Given the description of an element on the screen output the (x, y) to click on. 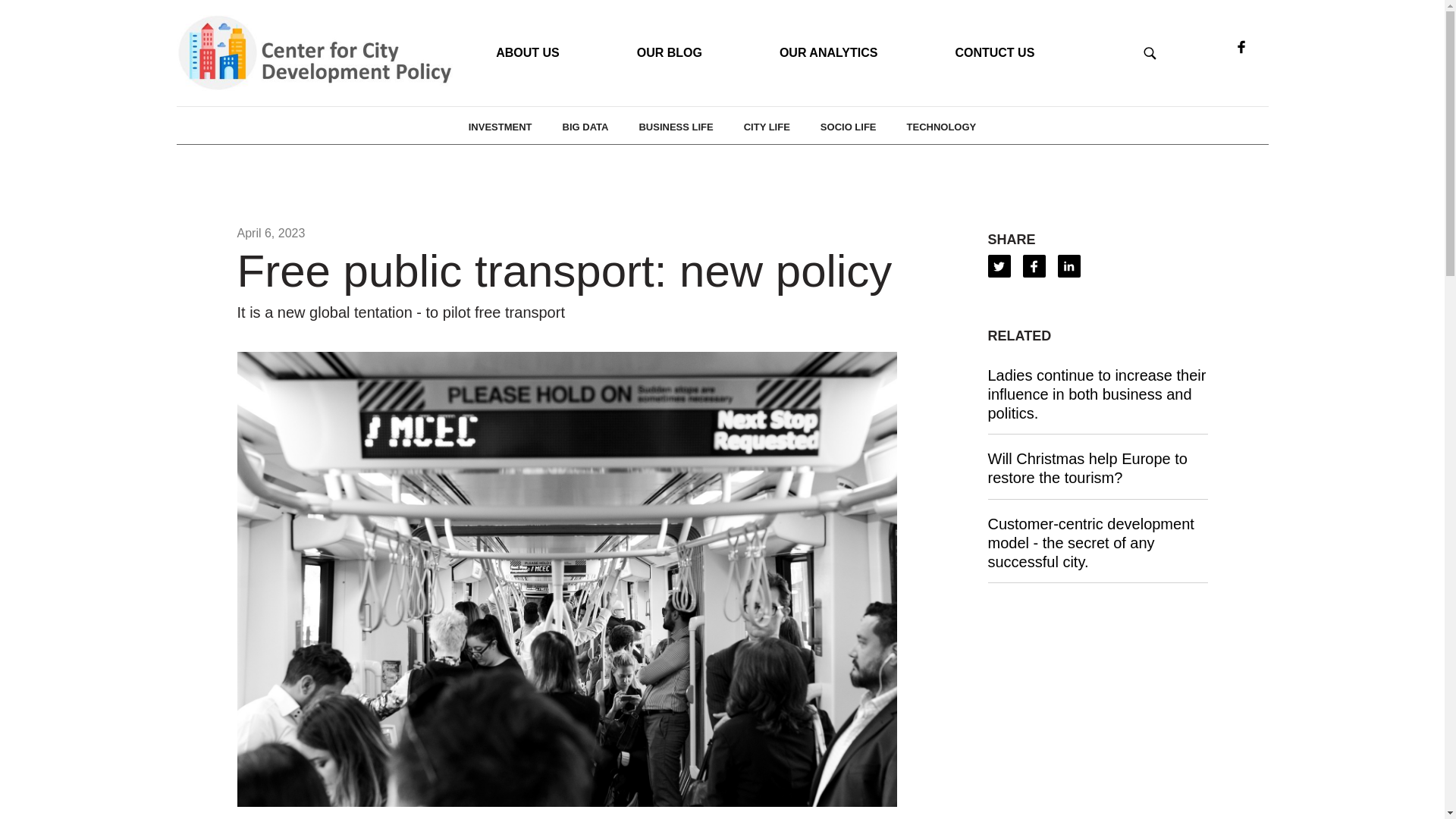
CITY LIFE (767, 127)
BUSINESS LIFE (675, 127)
BIG DATA (585, 127)
Share on Facebook (1033, 265)
OUR ANALYTICS (815, 53)
Share on LinkedIn (1068, 265)
Tweet (998, 265)
OUR BLOG (656, 53)
INVESTMENT (499, 127)
CONTUCT US (980, 53)
ABOUT US (514, 53)
